Given the description of an element on the screen output the (x, y) to click on. 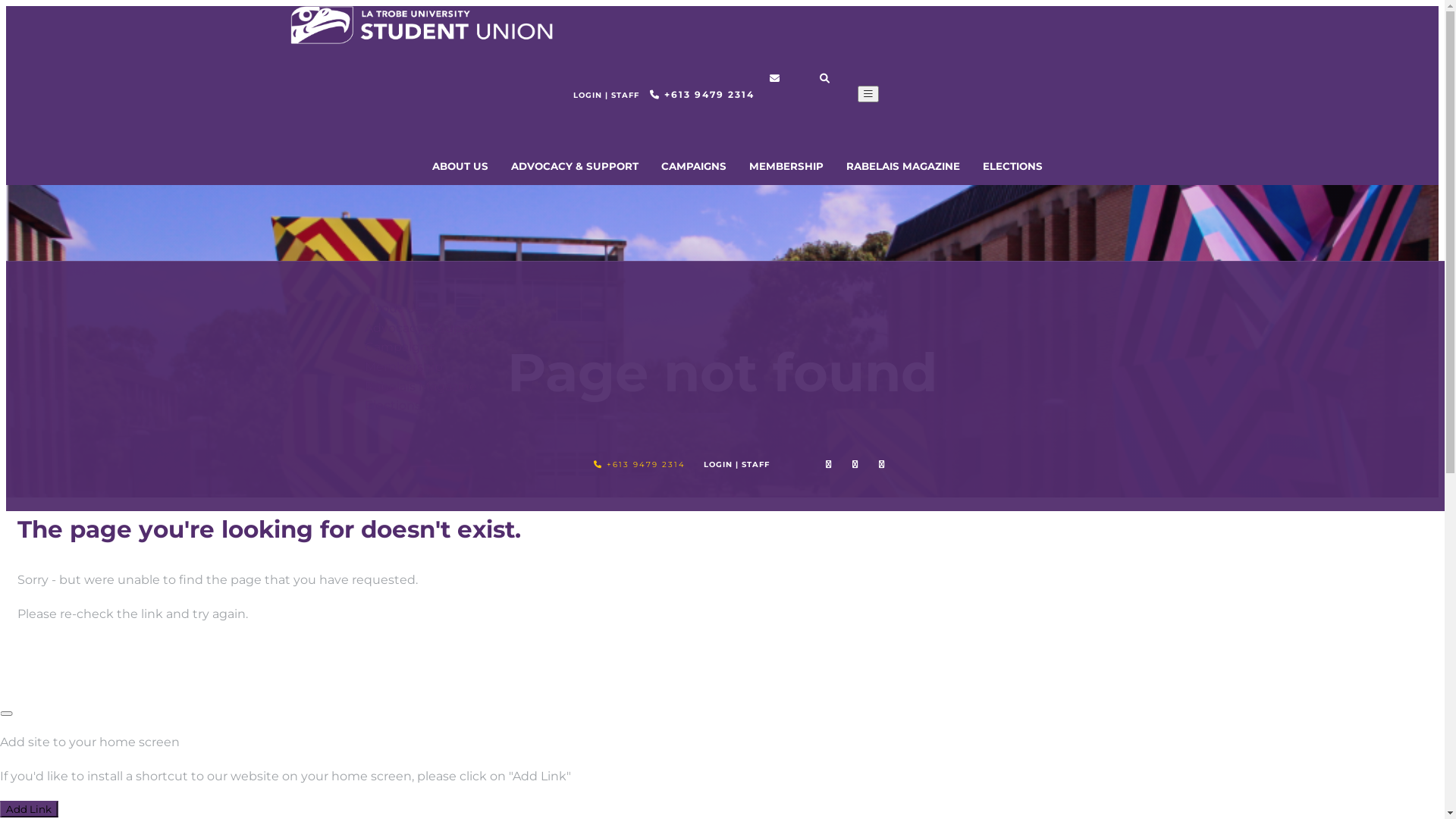
Add Link Element type: text (28, 808)
Advocacy & Support Element type: text (425, 327)
LOGIN Element type: text (719, 464)
Campaigns Element type: text (398, 346)
ADVOCACY & SUPPORT Element type: text (574, 164)
+613 9479 2314 Element type: text (701, 94)
About US Element type: text (393, 308)
+613 9479 2314 Element type: text (638, 464)
CAMPAIGNS Element type: text (693, 164)
Elections Element type: text (392, 405)
RABELAIS MAGAZINE Element type: text (902, 164)
STAFF Element type: text (625, 95)
MEMBERSHIP Element type: text (786, 164)
ABOUT US Element type: text (459, 164)
ELECTIONS Element type: text (1012, 164)
Membership Element type: text (403, 366)
STAFF Element type: text (755, 464)
Rabelais Magazine Element type: text (420, 386)
LOGIN Element type: text (589, 95)
